Given the description of an element on the screen output the (x, y) to click on. 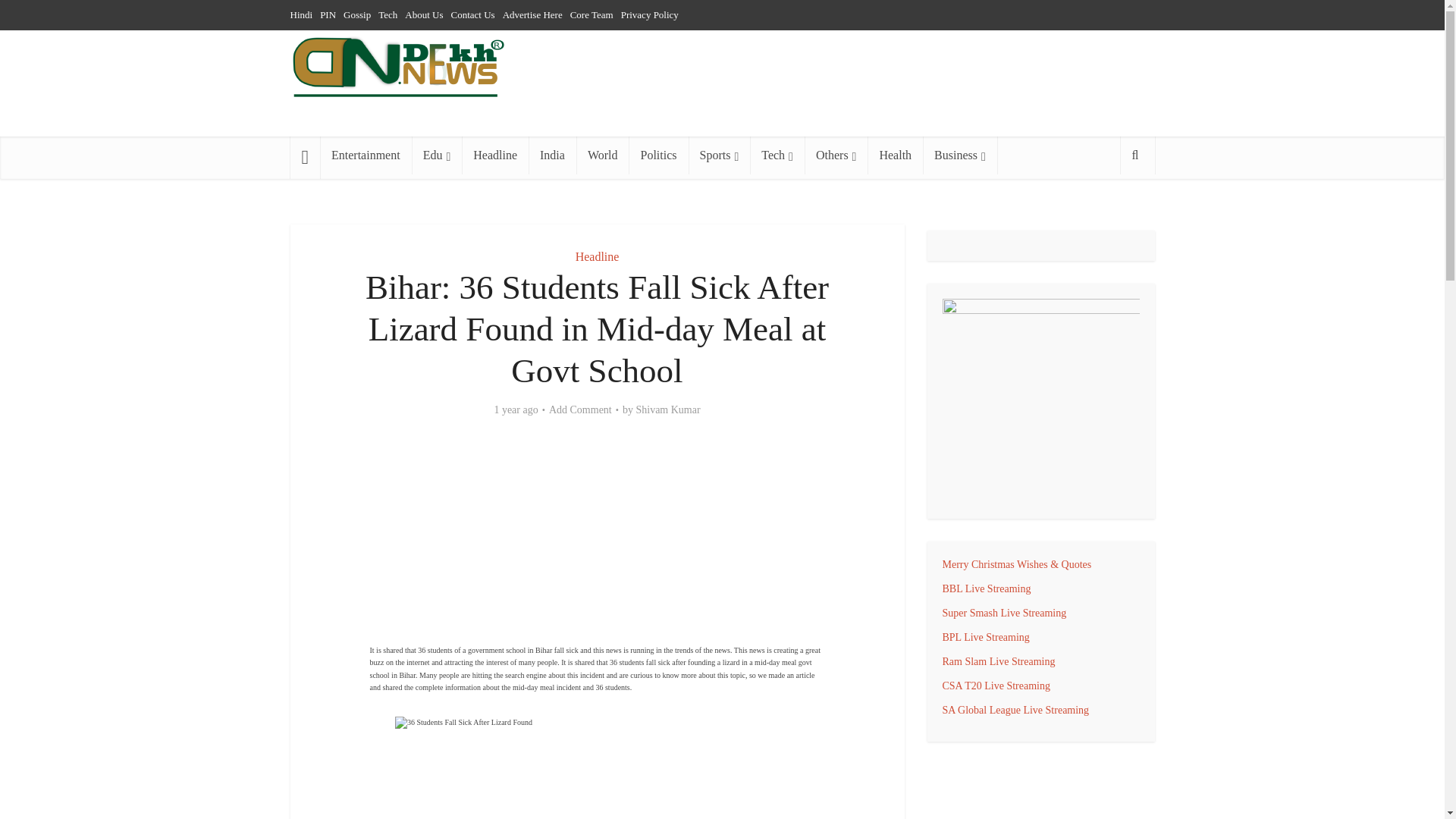
Advertisement (597, 542)
Hindi (301, 14)
Others (836, 155)
Headline (494, 155)
Advertise Here (532, 14)
Gossip (357, 14)
India (552, 155)
Edu (437, 155)
Politics (657, 155)
Tech (387, 14)
Contact Us (472, 14)
Core Team (591, 14)
Tech (777, 155)
World (602, 155)
About Us (423, 14)
